Given the description of an element on the screen output the (x, y) to click on. 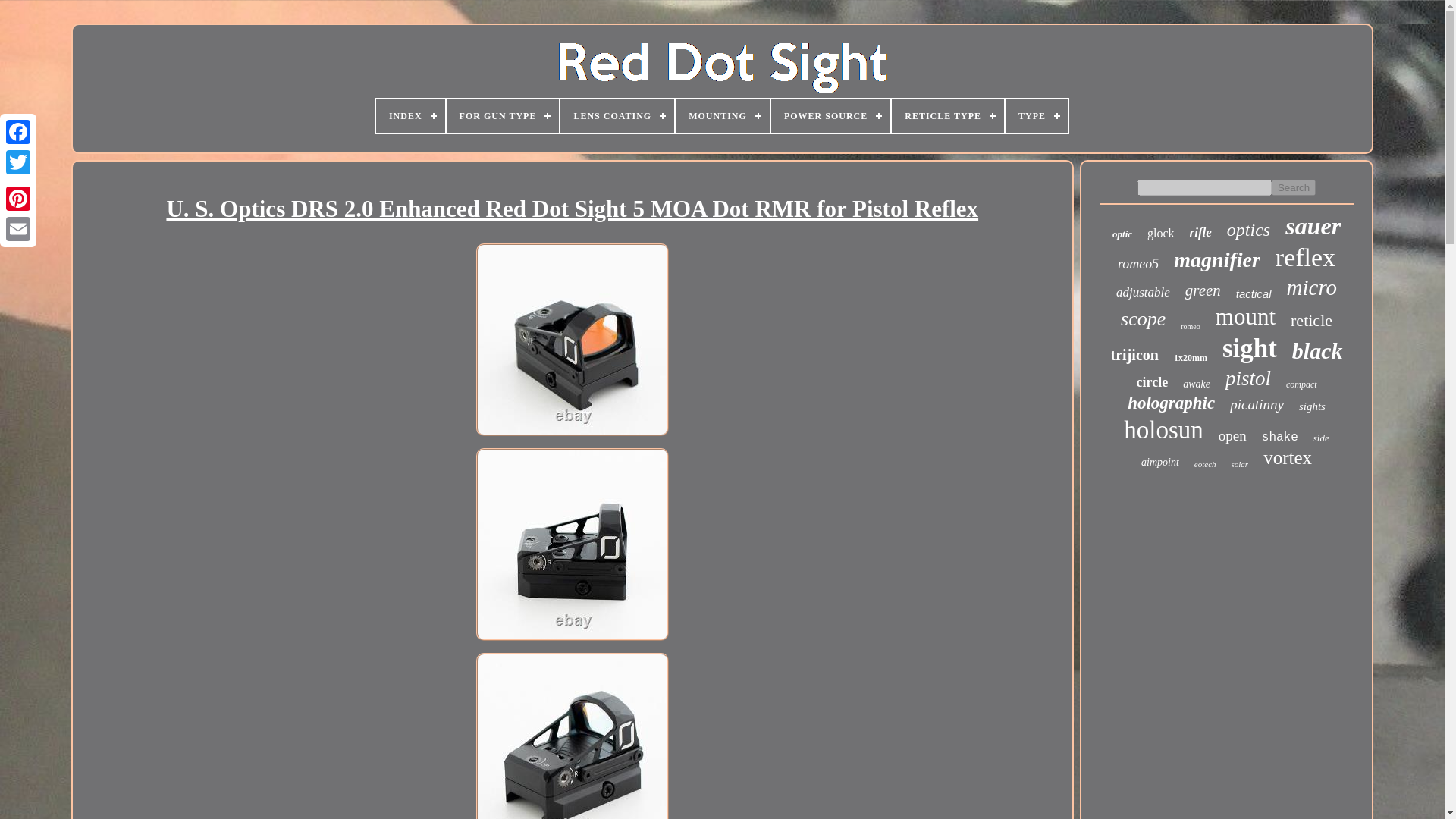
MOUNTING (722, 115)
FOR GUN TYPE (502, 115)
INDEX (410, 115)
Search (1293, 187)
LENS COATING (617, 115)
